Given the description of an element on the screen output the (x, y) to click on. 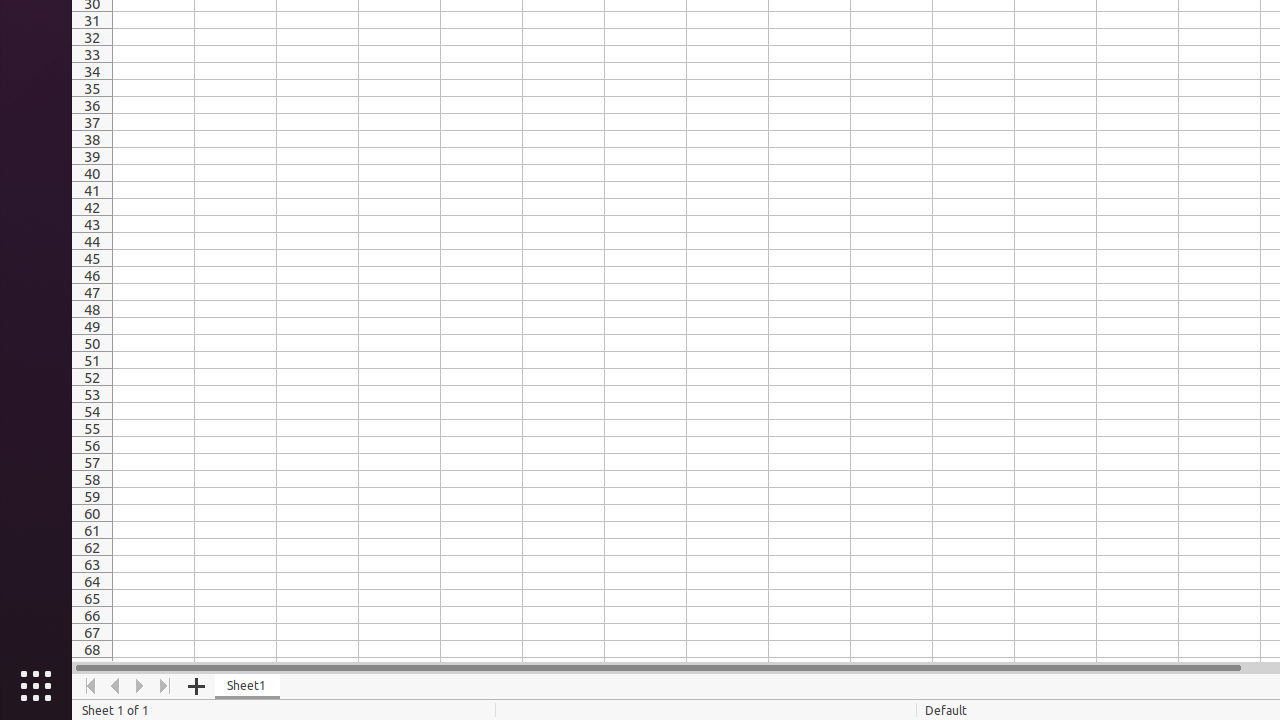
Move To Home Element type: push-button (90, 686)
